Given the description of an element on the screen output the (x, y) to click on. 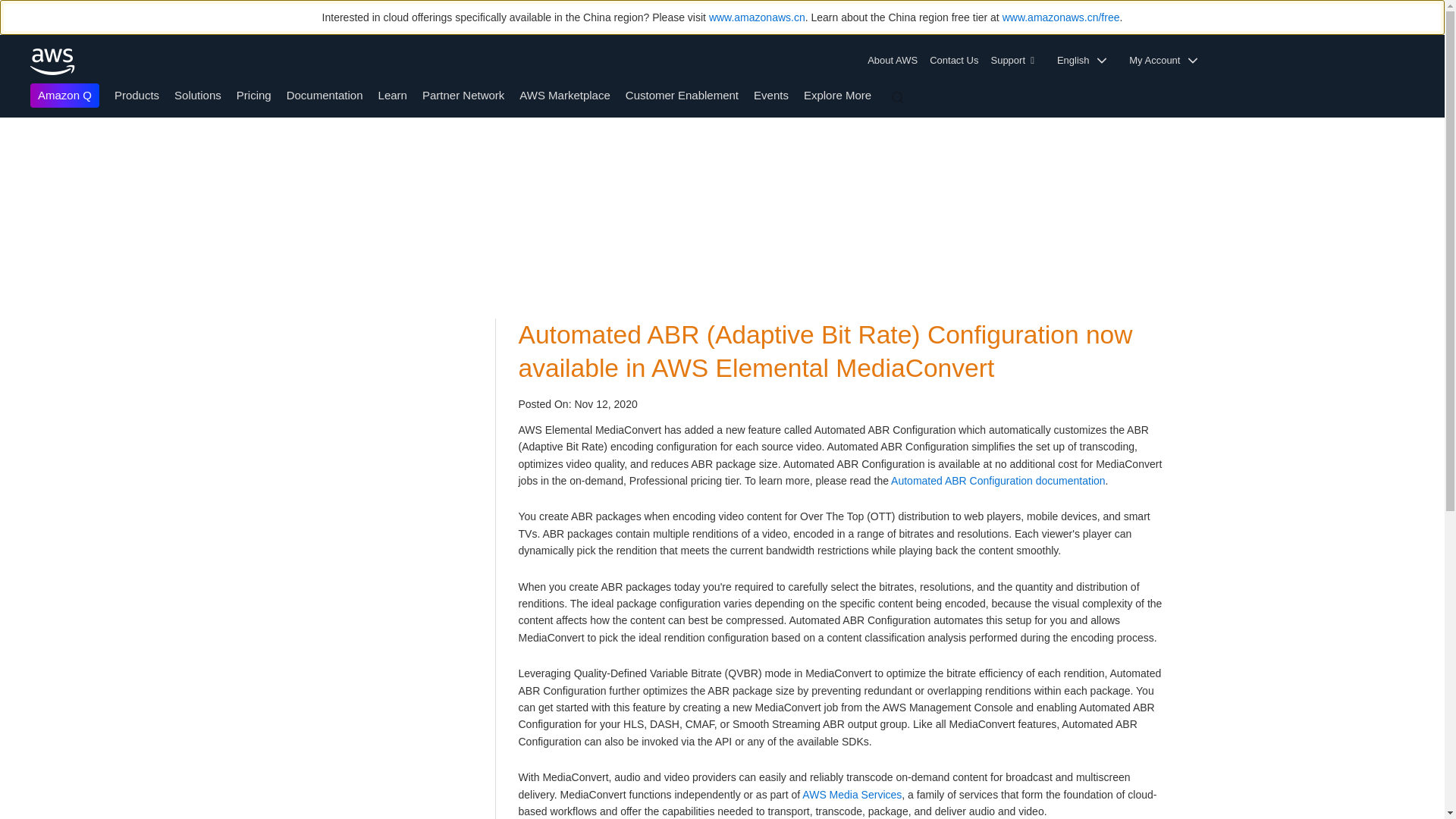
www.amazonaws.cn (757, 17)
Learn (392, 94)
Support  (1016, 60)
Documentation (324, 94)
About AWS (895, 60)
AWS Marketplace (564, 94)
Explore More (836, 94)
Click here to return to Amazon Web Services homepage (52, 61)
Events (771, 94)
Partner Network (462, 94)
